Given the description of an element on the screen output the (x, y) to click on. 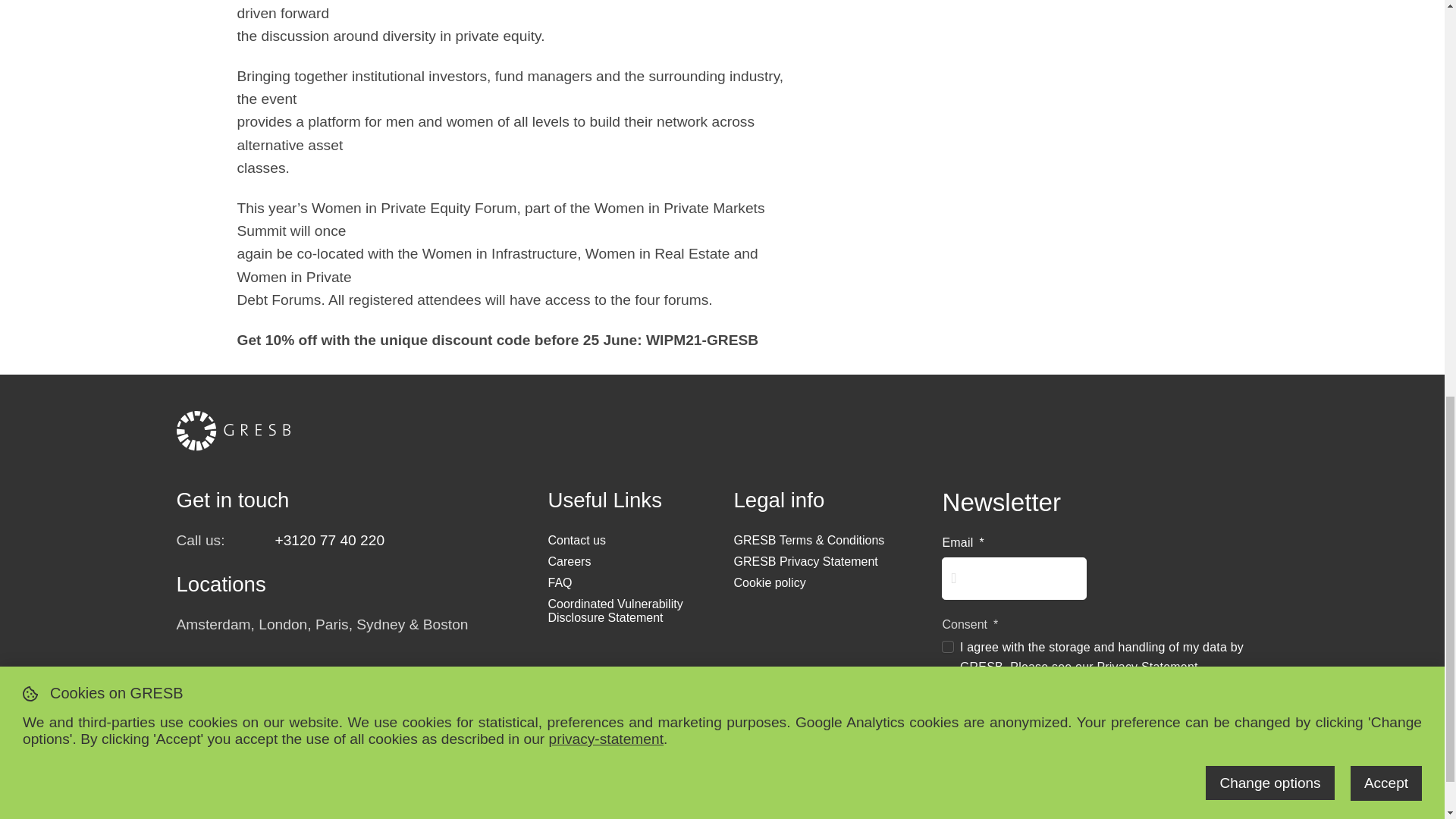
Get the newsletter! (1026, 721)
